Given the description of an element on the screen output the (x, y) to click on. 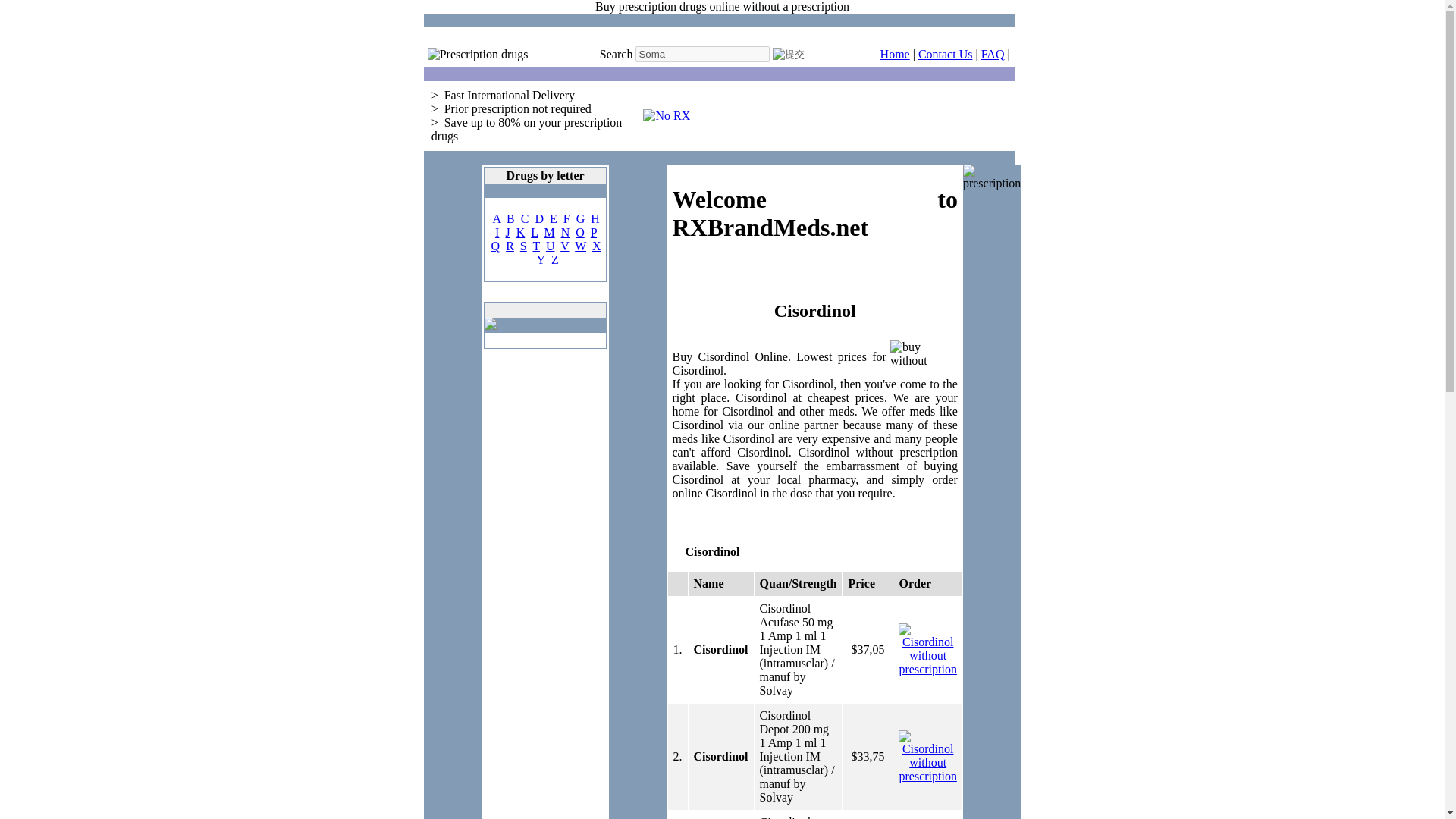
Letter C (525, 218)
E (553, 218)
G (580, 218)
T (535, 245)
I (497, 232)
Z (555, 259)
Letter K (520, 232)
M (548, 232)
Letter J (507, 232)
Letter F (566, 218)
F (566, 218)
Home (895, 52)
Letter N (565, 232)
Letter H (595, 218)
Letter P (593, 232)
